Given the description of an element on the screen output the (x, y) to click on. 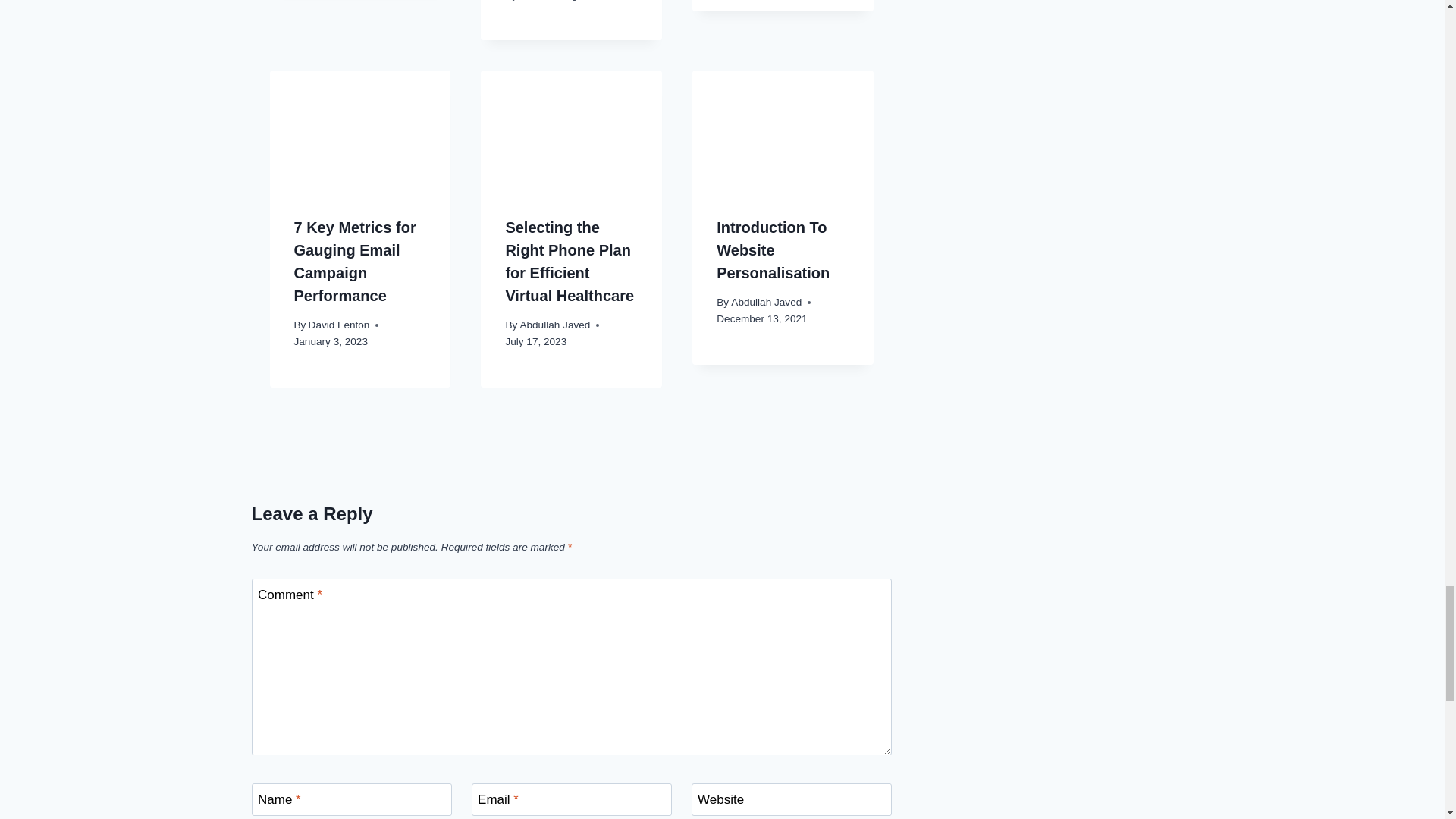
Grow Your Canadian Bank Account by Making Money Online (360, 130)
Grow Your Canadian Bank Account by Making Money Online (783, 130)
Grow Your Canadian Bank Account by Making Money Online (571, 130)
